Given the description of an element on the screen output the (x, y) to click on. 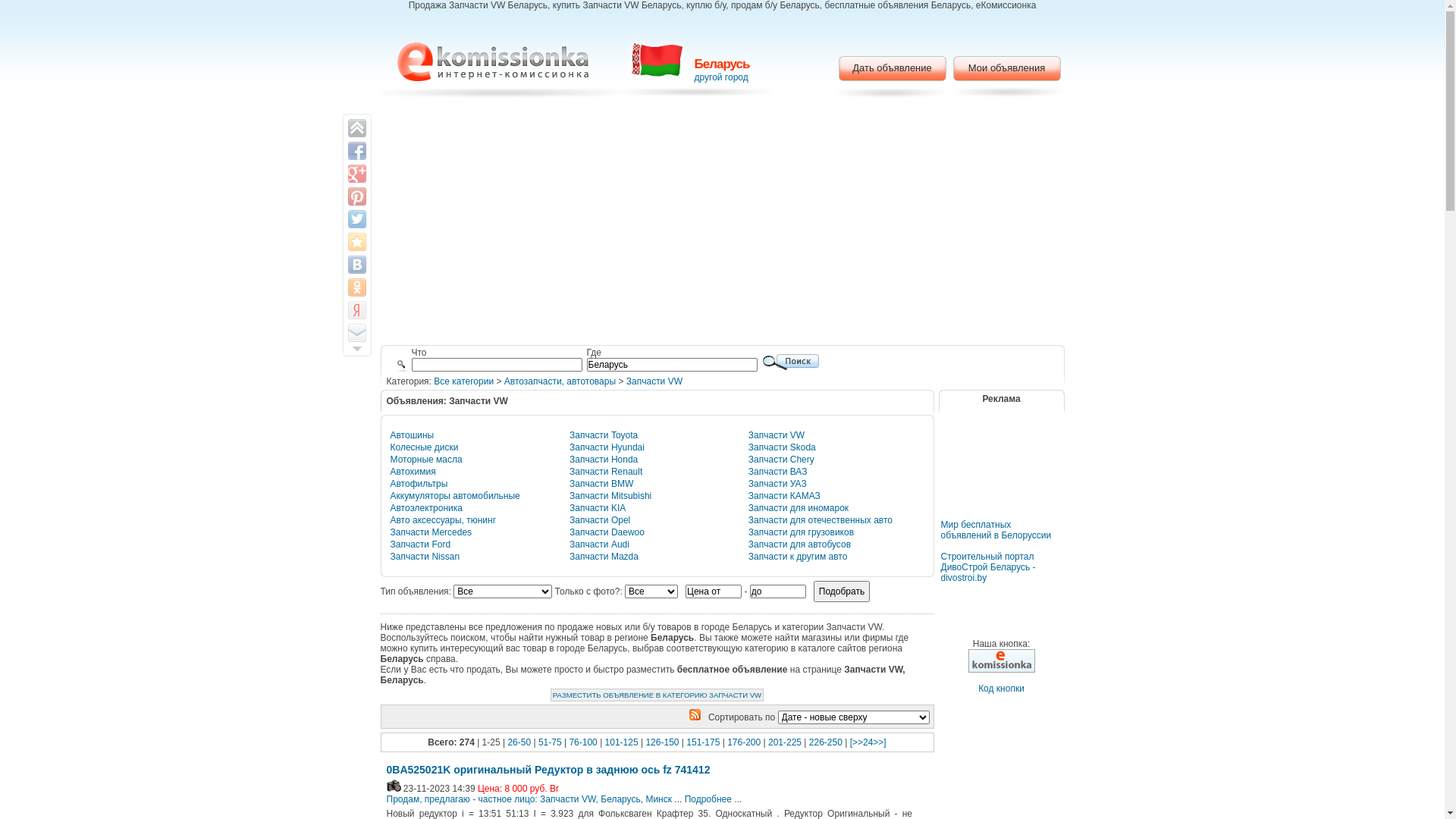
Share on Twitter Element type: hover (356, 219)
Back on top Element type: hover (356, 128)
Save to Browser Favorites Element type: hover (356, 241)
Pin It Element type: hover (356, 196)
76-100 Element type: text (582, 742)
Save to Yandex Bookmarks Element type: hover (356, 310)
26-50 Element type: text (518, 742)
51-75 Element type: text (549, 742)
126-150 Element type: text (661, 742)
201-225 Element type: text (784, 742)
Advertisement Element type: hover (722, 223)
151-175 Element type: text (702, 742)
Share on Google+ Element type: hover (356, 173)
[>>24>>] Element type: text (868, 742)
Share on Facebook Element type: hover (356, 150)
Email this to a friend Element type: hover (356, 332)
226-250 Element type: text (825, 742)
176-200 Element type: text (743, 742)
Share to Odnoklassniki.ru Element type: hover (356, 287)
Share on VK Element type: hover (356, 264)
101-125 Element type: text (621, 742)
Advertisement Element type: hover (1000, 474)
